Given the description of an element on the screen output the (x, y) to click on. 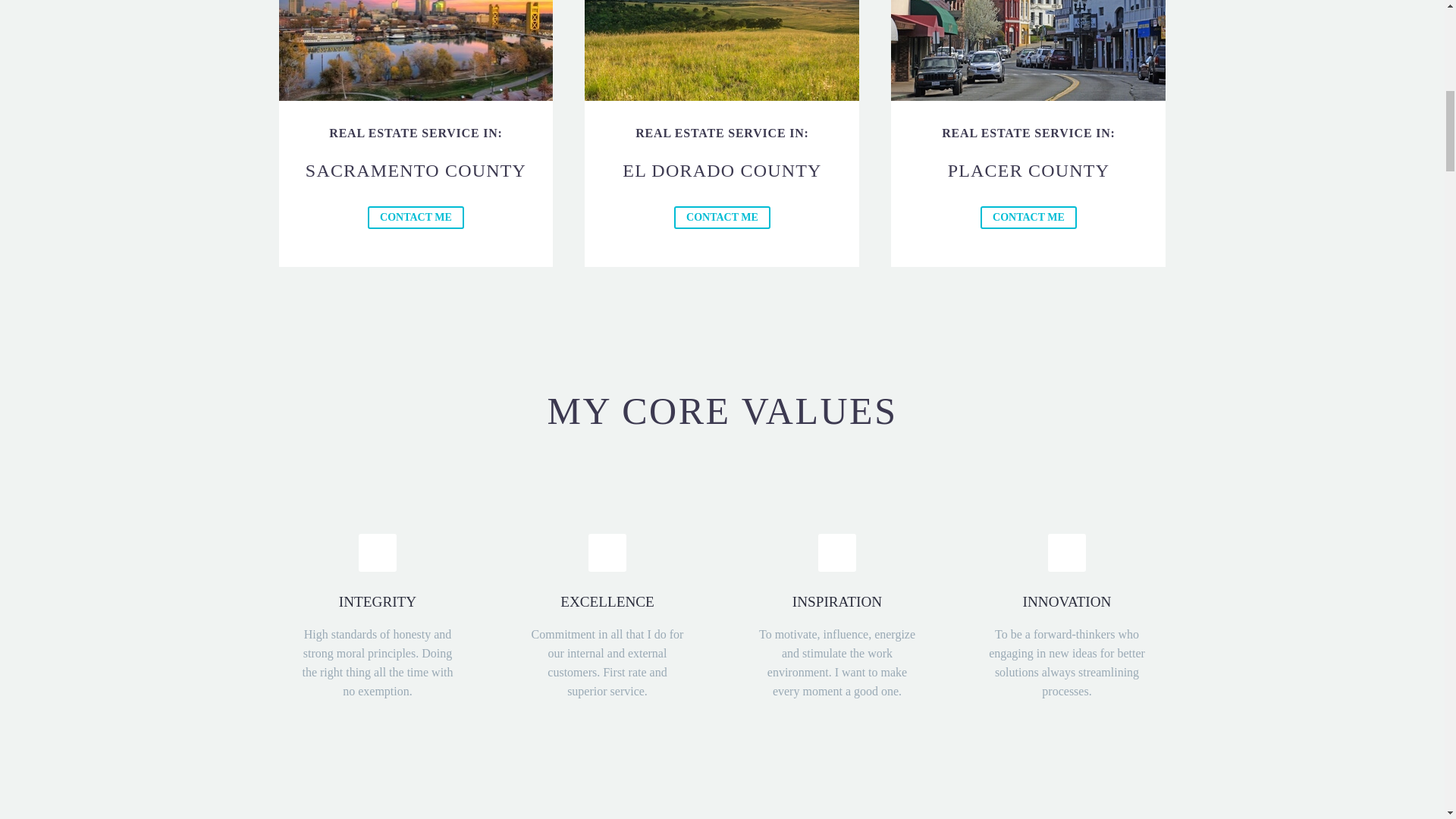
CONTACT ME (722, 217)
CONTACT ME (416, 217)
CONTACT ME (1028, 217)
